Given the description of an element on the screen output the (x, y) to click on. 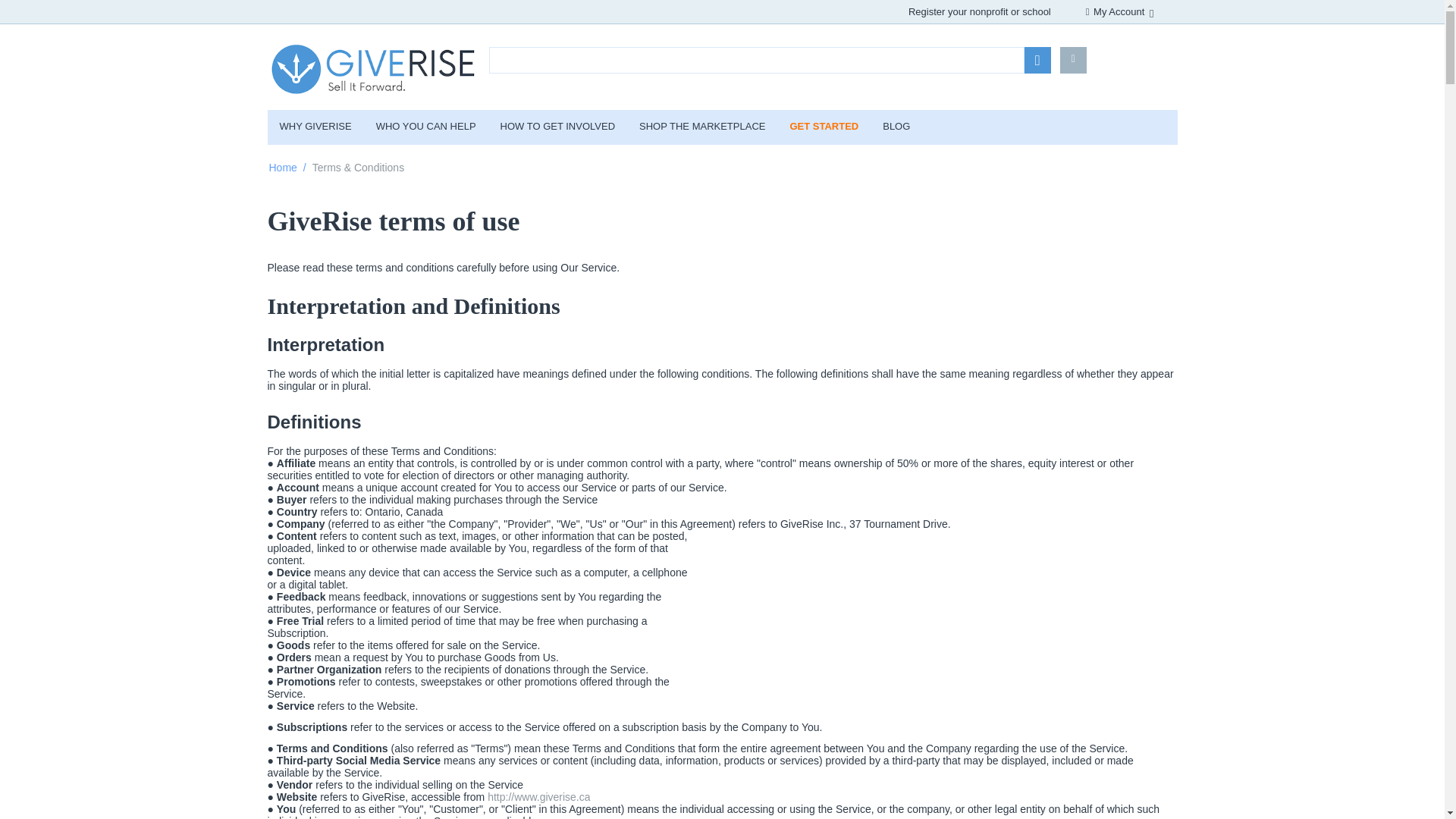
SHOP THE MARKETPLACE (702, 126)
Search (1038, 59)
Search products (756, 59)
My Account (1118, 11)
HOW TO GET INVOLVED (557, 126)
Register your nonprofit or school (979, 11)
WHO YOU CAN HELP (425, 126)
WHY GIVERISE (314, 126)
